Given the description of an element on the screen output the (x, y) to click on. 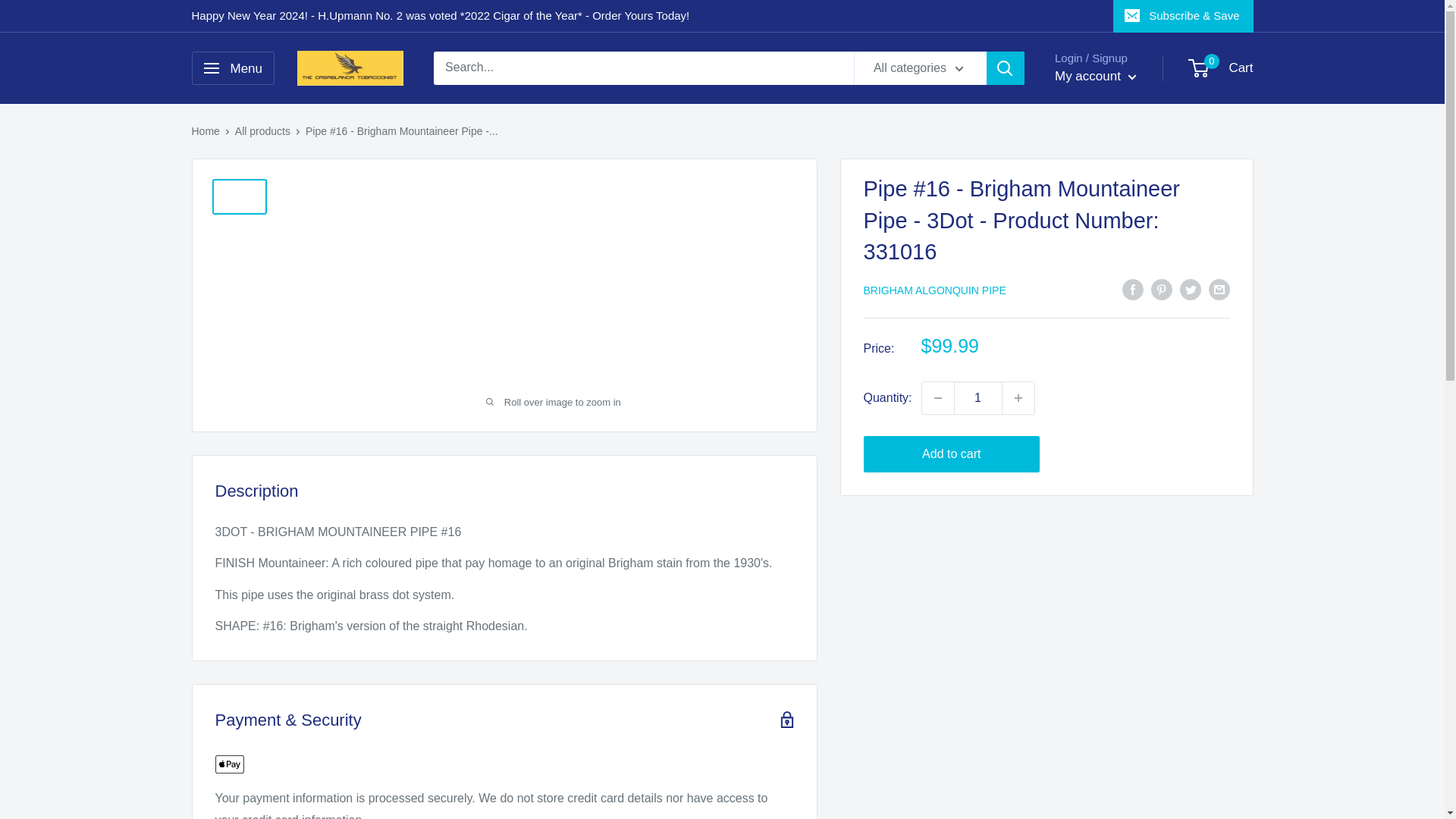
Increase quantity by 1 (1018, 398)
Decrease quantity by 1 (937, 398)
1 (978, 398)
Menu (232, 68)
